Given the description of an element on the screen output the (x, y) to click on. 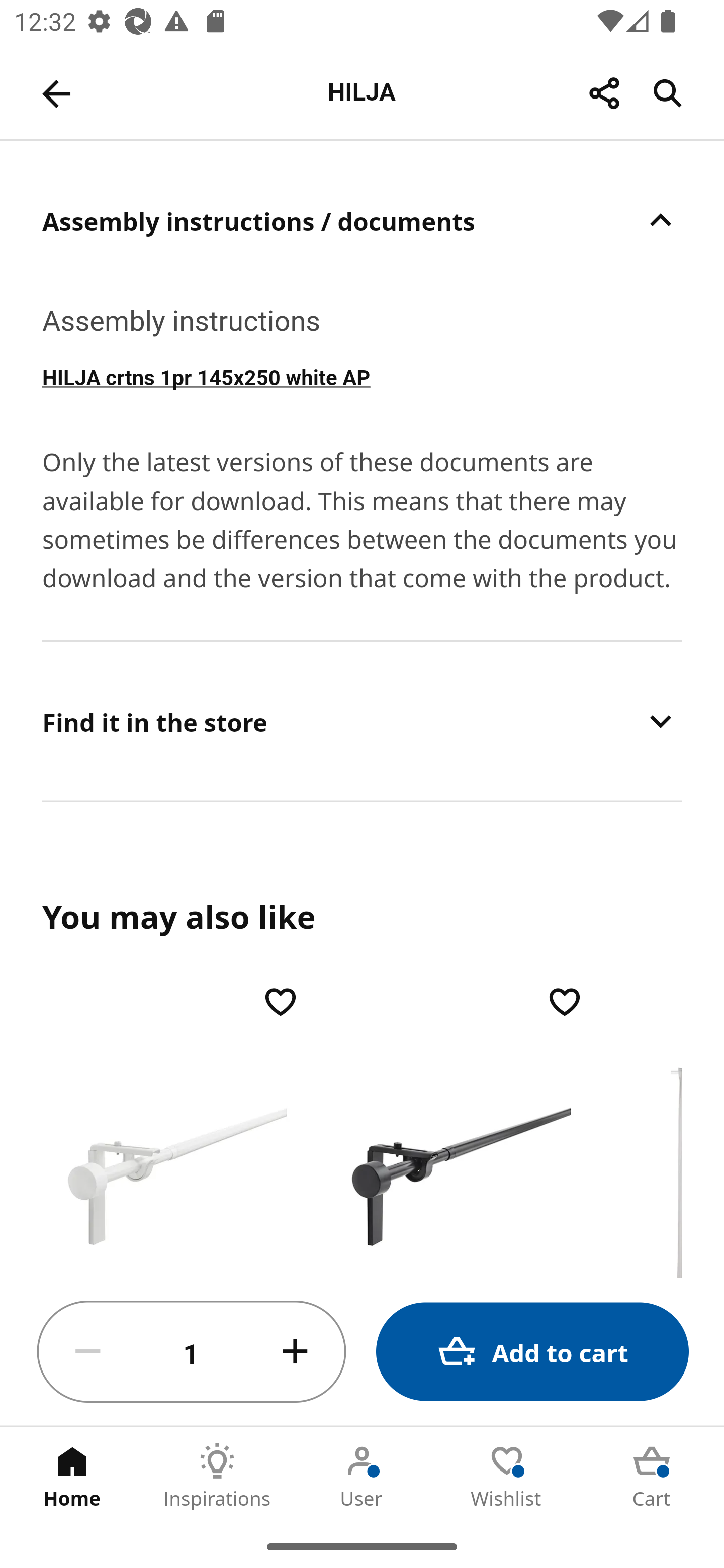
Assembly instructions / documents (361, 219)
HILJA crtns 1pr 145x250 white AP (361, 376)
Find it in the store (361, 721)
Add to cart (531, 1352)
1 (191, 1352)
Home
Tab 1 of 5 (72, 1476)
Inspirations
Tab 2 of 5 (216, 1476)
User
Tab 3 of 5 (361, 1476)
Wishlist
Tab 4 of 5 (506, 1476)
Cart
Tab 5 of 5 (651, 1476)
